Given the description of an element on the screen output the (x, y) to click on. 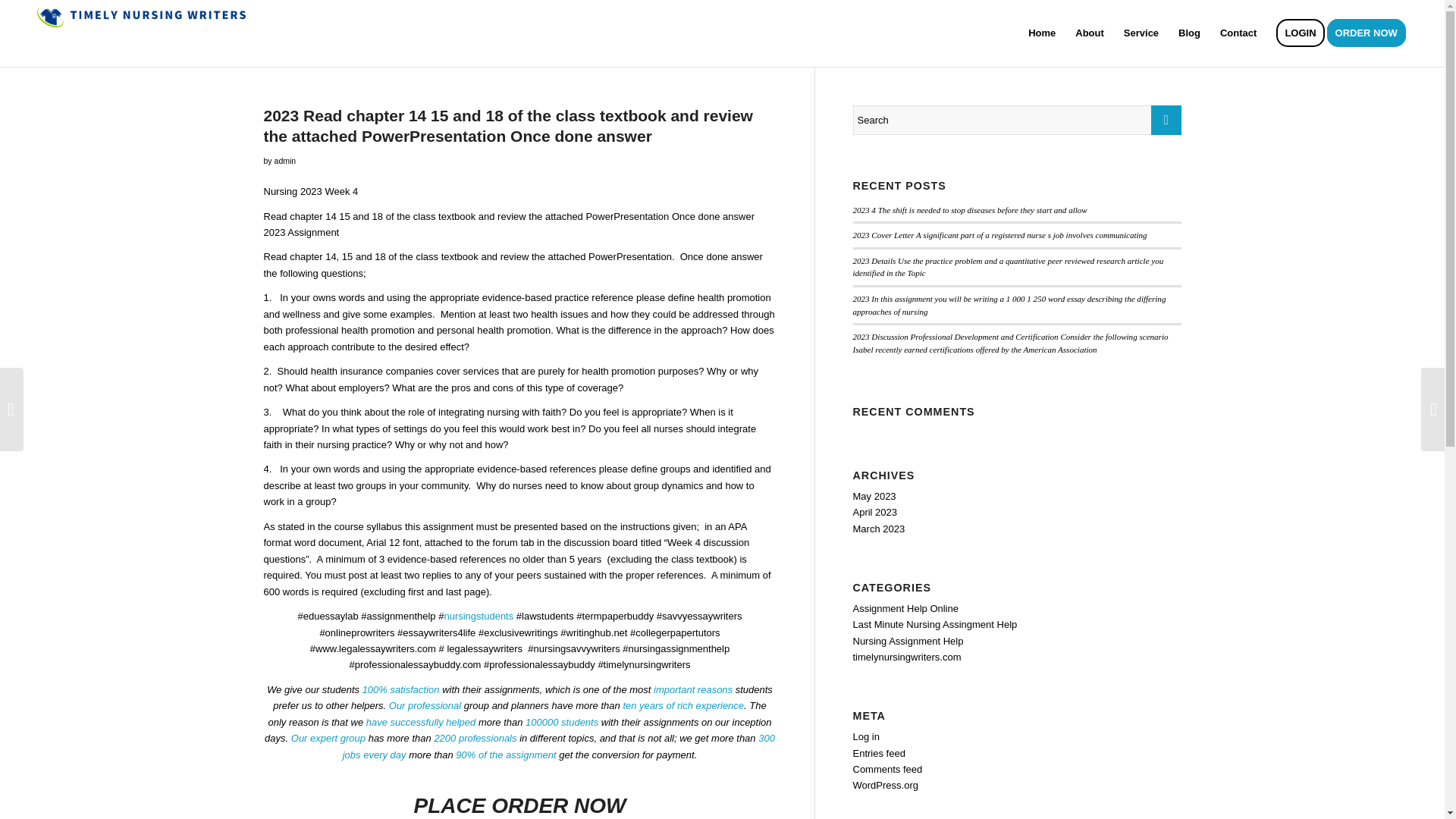
admin (286, 160)
PLACE ORDER NOW (519, 805)
timelynursingwriters.com (905, 656)
2200 professionals (474, 737)
nursingstudents (478, 615)
important reasons (692, 689)
Last Minute Nursing Assingment Help (933, 624)
March 2023 (877, 528)
have successfully helped (421, 722)
Nursing Assignment Help (906, 641)
Our professional (424, 705)
April 2023 (873, 511)
